Given the description of an element on the screen output the (x, y) to click on. 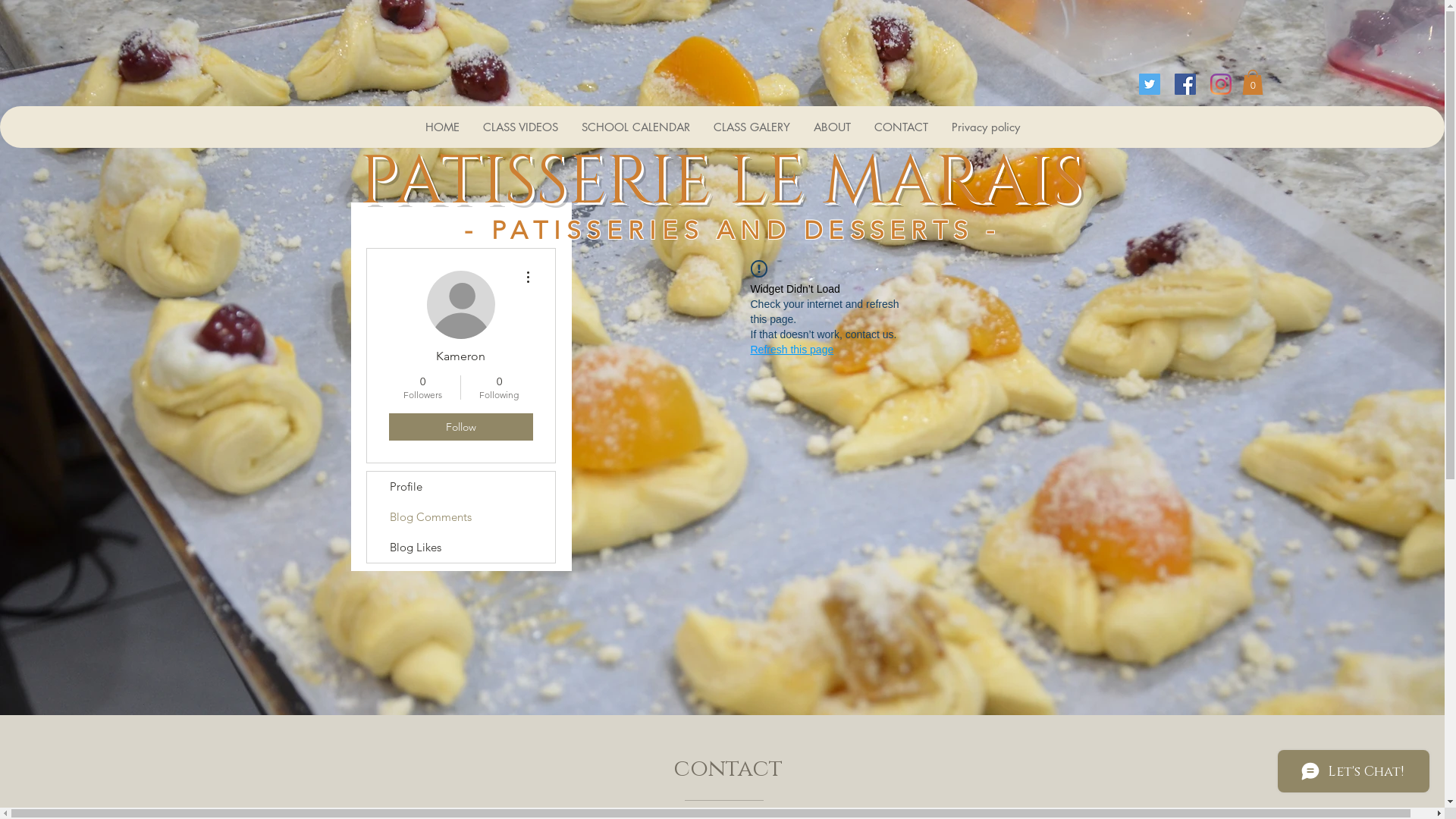
ABOUT Element type: text (831, 126)
0
Following Element type: text (499, 387)
CLASS GALERY Element type: text (751, 126)
Wix Chat Element type: hover (1357, 774)
SCHOOL CALENDAR Element type: text (635, 126)
Blog Likes Element type: text (461, 547)
0 Element type: text (1252, 81)
0
Followers Element type: text (421, 387)
CLASS VIDEOS Element type: text (519, 126)
Refresh this page Element type: text (792, 349)
Follow Element type: text (460, 426)
HOME Element type: text (441, 126)
Privacy policy Element type: text (985, 126)
Blog Comments Element type: text (461, 517)
CONTACT Element type: text (900, 126)
Profile Element type: text (461, 486)
